Given the description of an element on the screen output the (x, y) to click on. 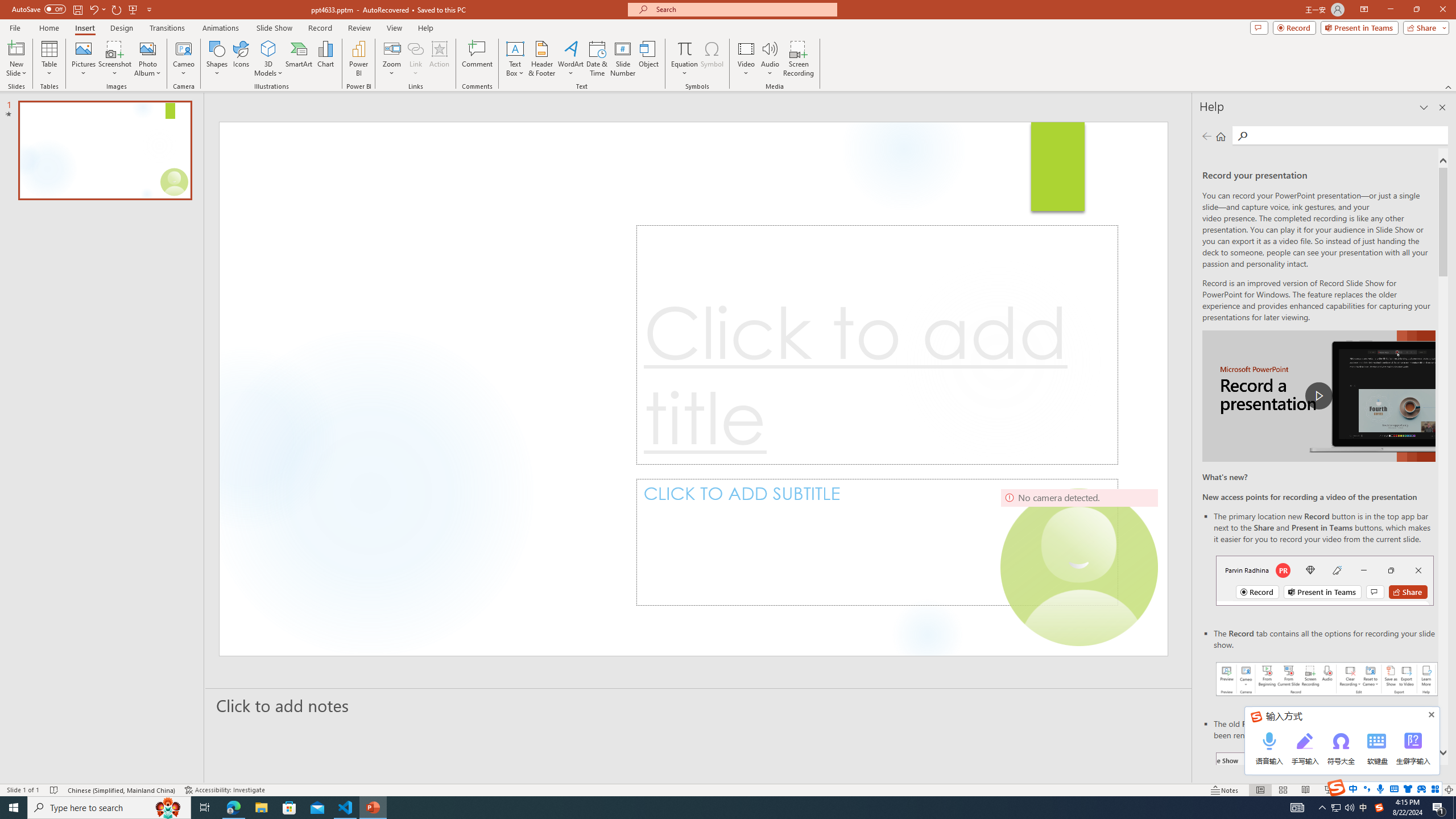
Header & Footer... (541, 58)
Date & Time... (596, 58)
New Photo Album... (147, 48)
